Given the description of an element on the screen output the (x, y) to click on. 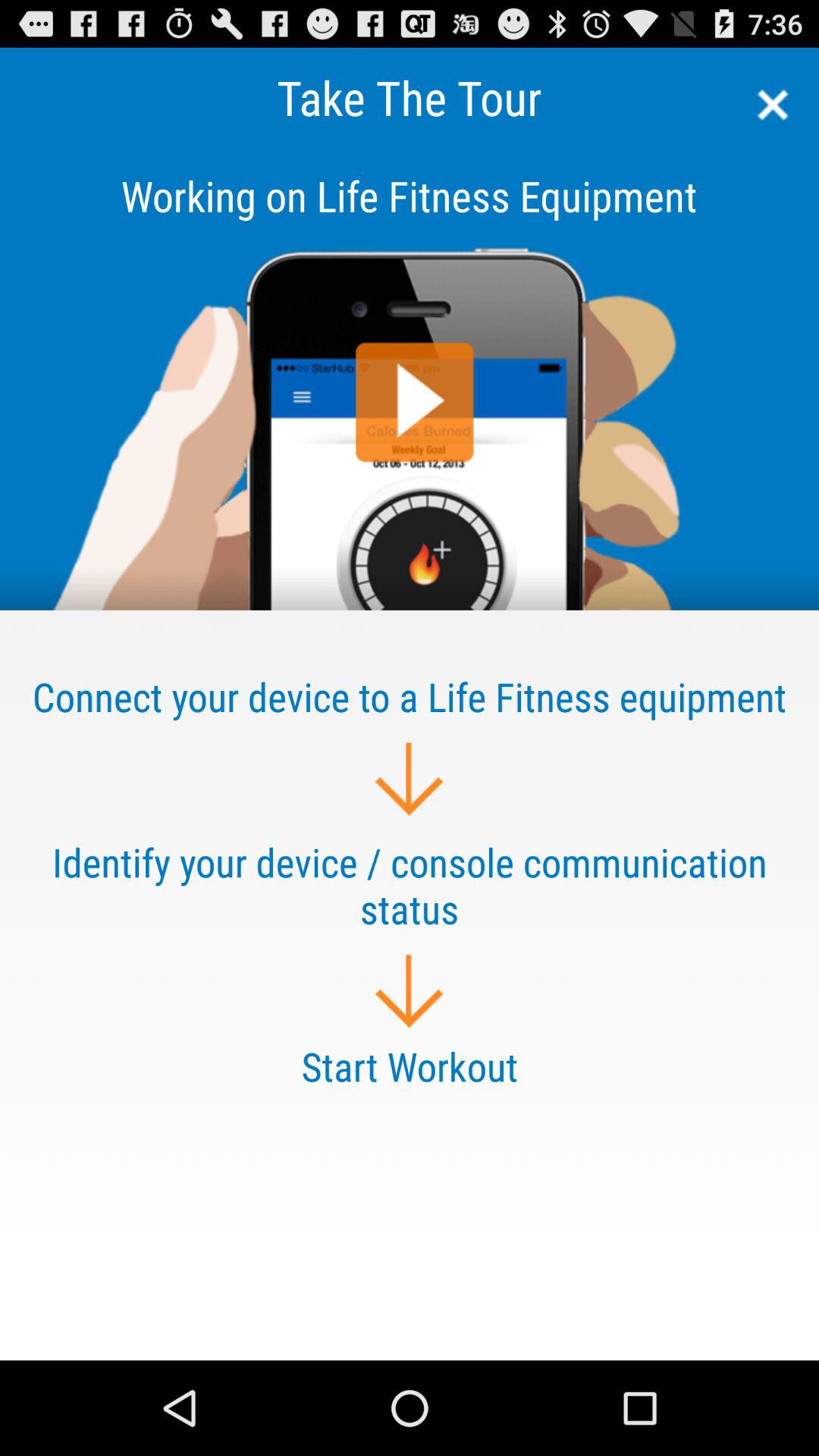
share article (409, 378)
